Given the description of an element on the screen output the (x, y) to click on. 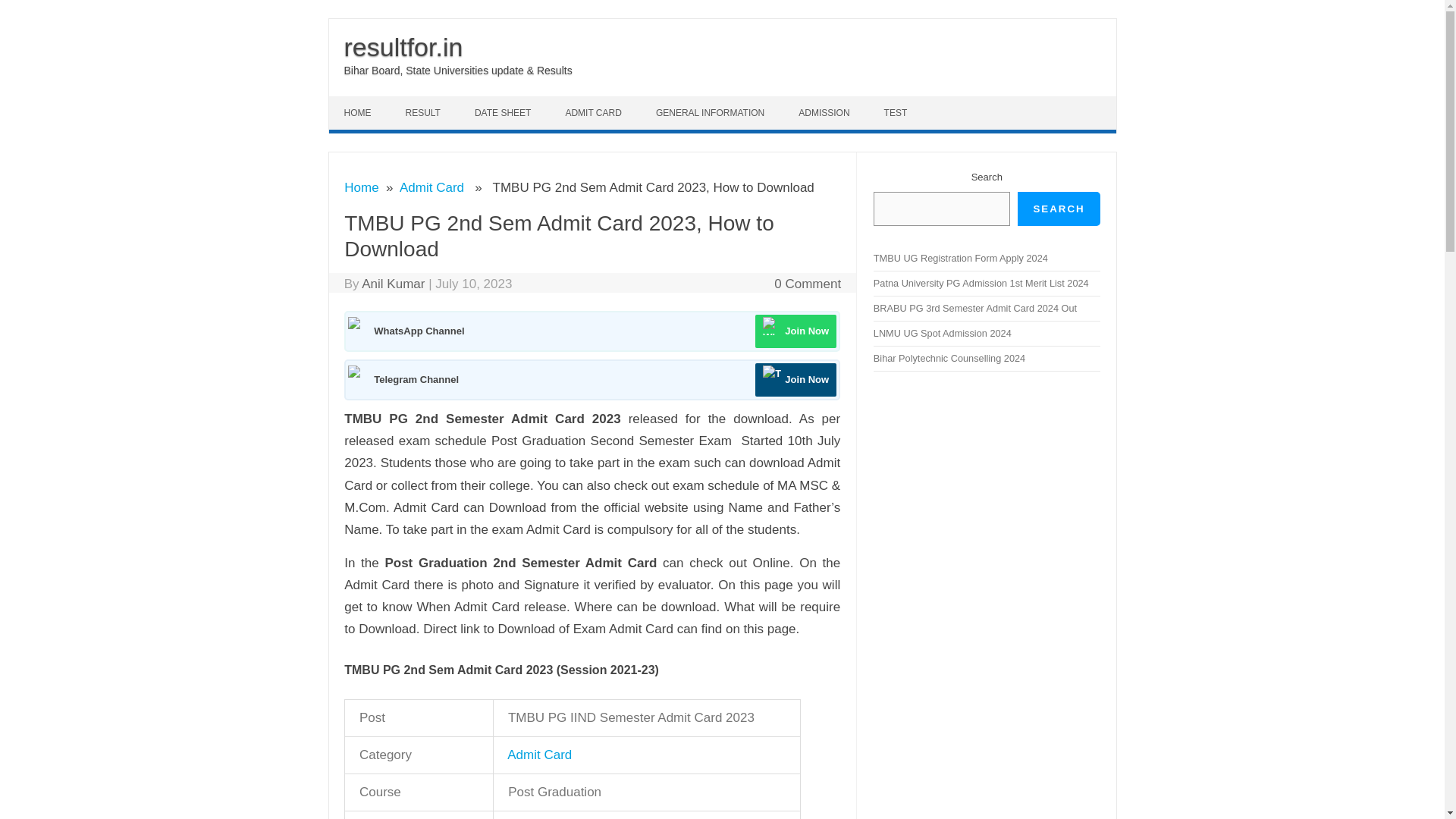
0 Comment (807, 283)
Admit Card  (540, 754)
Posts by Anil Kumar (393, 283)
TMBU PG 2nd Sem Admit Card 2023, How to Download 2 (771, 325)
TMBU PG 2nd Sem Admit Card 2023, How to Download 1 (356, 325)
ADMISSION (825, 112)
DATE SHEET (505, 112)
GENERAL INFORMATION (711, 112)
RESULT (424, 112)
TMBU PG 2nd Sem Admit Card 2023, How to Download 4 (771, 374)
Join Now (795, 331)
TEST (897, 112)
Join Now (795, 379)
resultfor.in (403, 46)
